Given the description of an element on the screen output the (x, y) to click on. 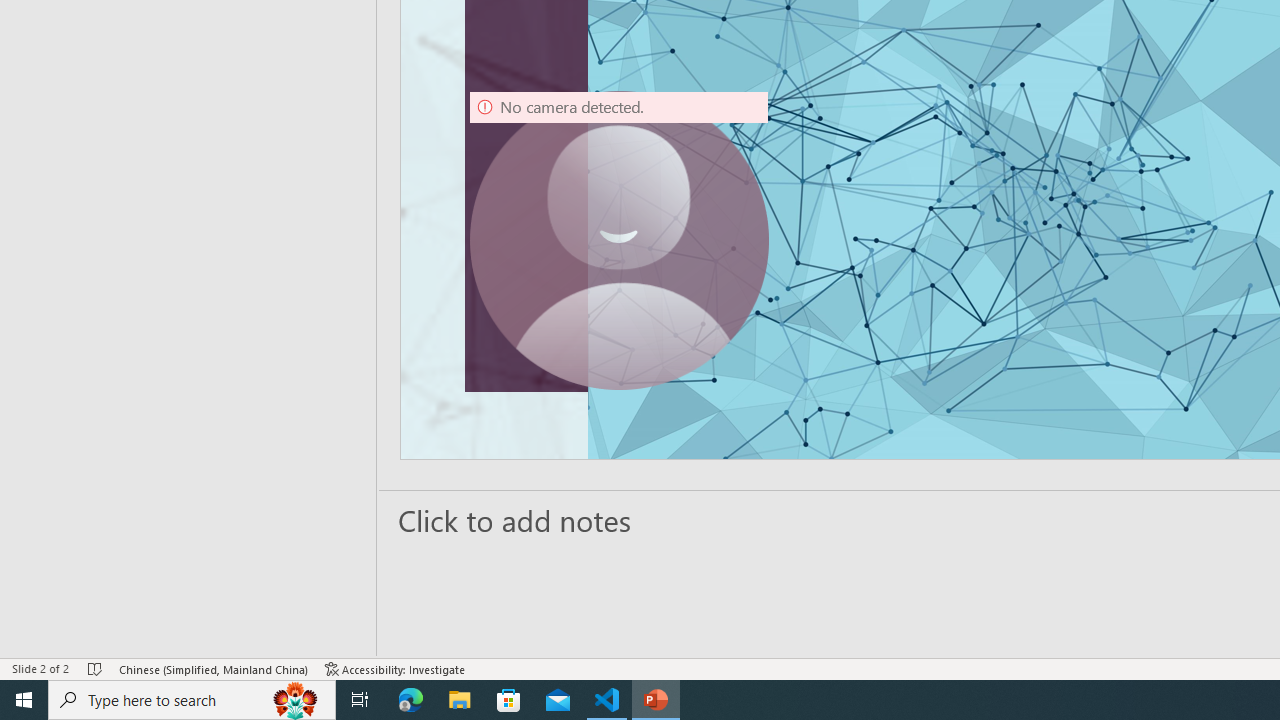
Camera 9, No camera detected. (619, 240)
